Given the description of an element on the screen output the (x, y) to click on. 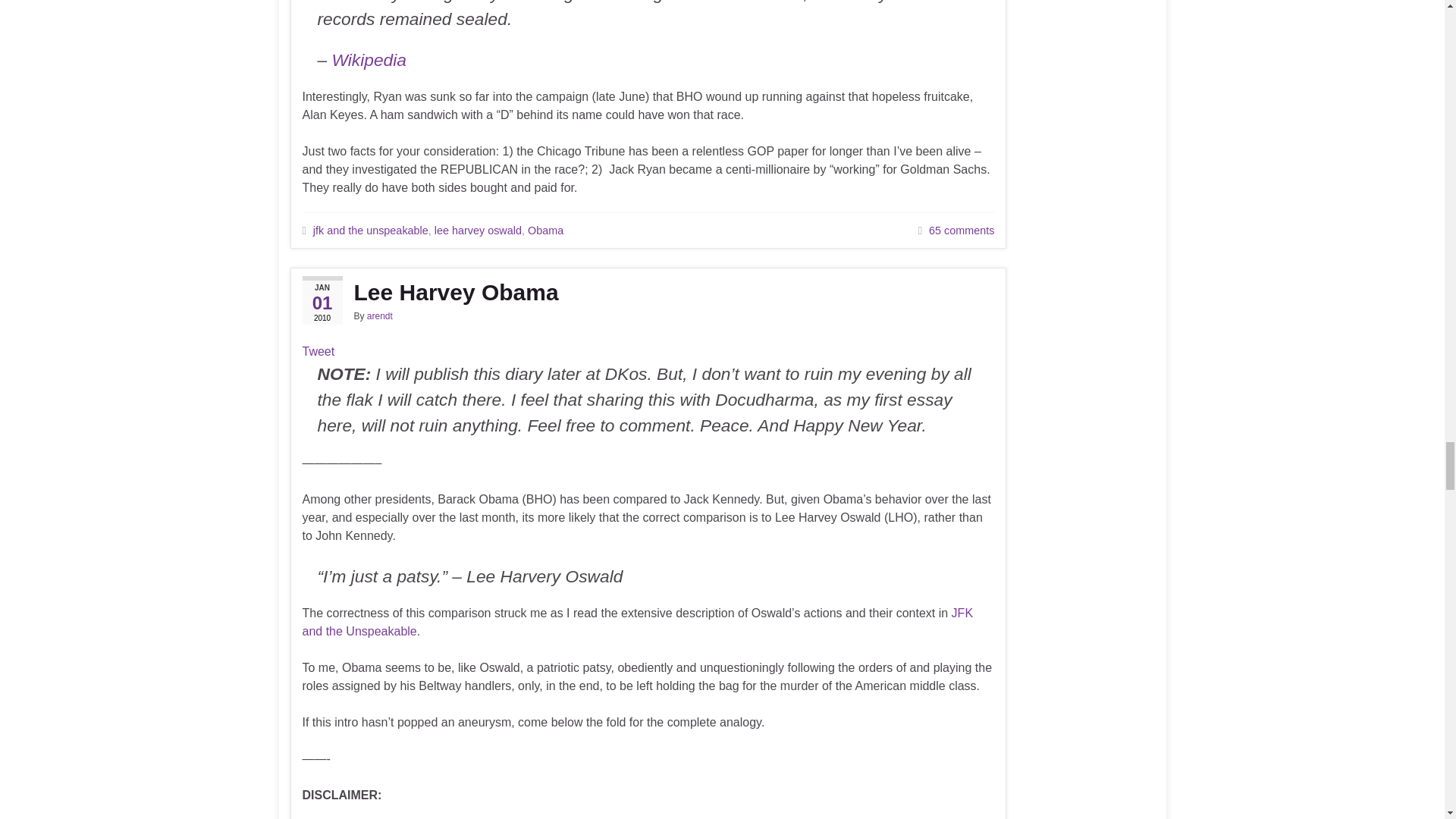
Lee Harvey Obama (647, 292)
Tweet (317, 350)
Wikipedia (368, 59)
jfk and the unspeakable (370, 230)
65 comments (961, 230)
lee harvey oswald (477, 230)
arendt (379, 316)
JFK and the Unspeakable (636, 622)
Permalink to Lee Harvey Obama (647, 292)
Obama (545, 230)
